Given the description of an element on the screen output the (x, y) to click on. 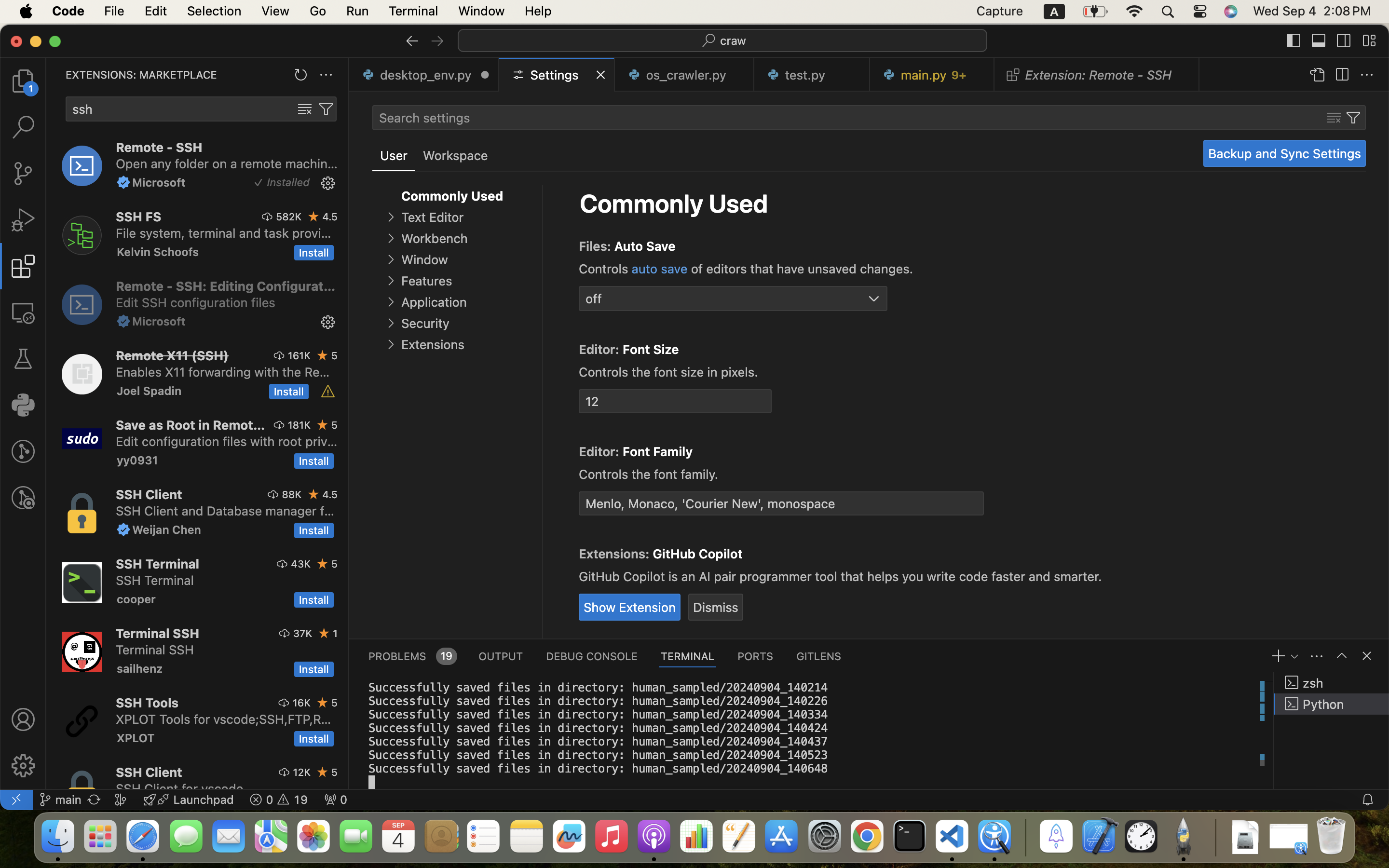
Controls the font family. Element type: AXStaticText (648, 473)
 Element type: AXButton (304, 108)
 Element type: AXStaticText (390, 237)
cooper Element type: AXStaticText (136, 598)
 Element type: AXButton (327, 182)
